Given the description of an element on the screen output the (x, y) to click on. 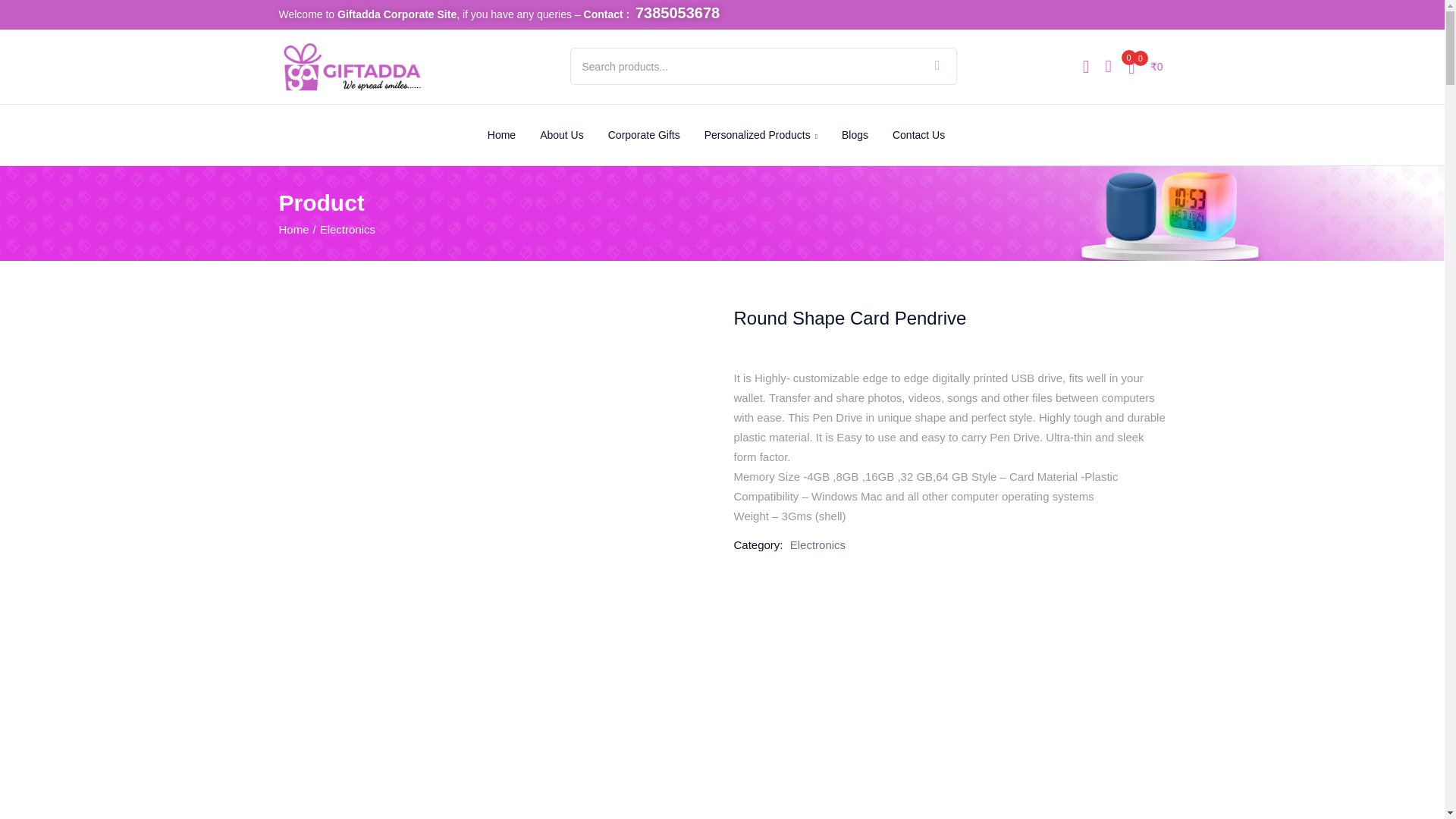
7385053678 (676, 14)
View your shopping cart (1144, 66)
Corporate Gifts (644, 134)
About Us (561, 134)
Personalized Products (761, 134)
